Given the description of an element on the screen output the (x, y) to click on. 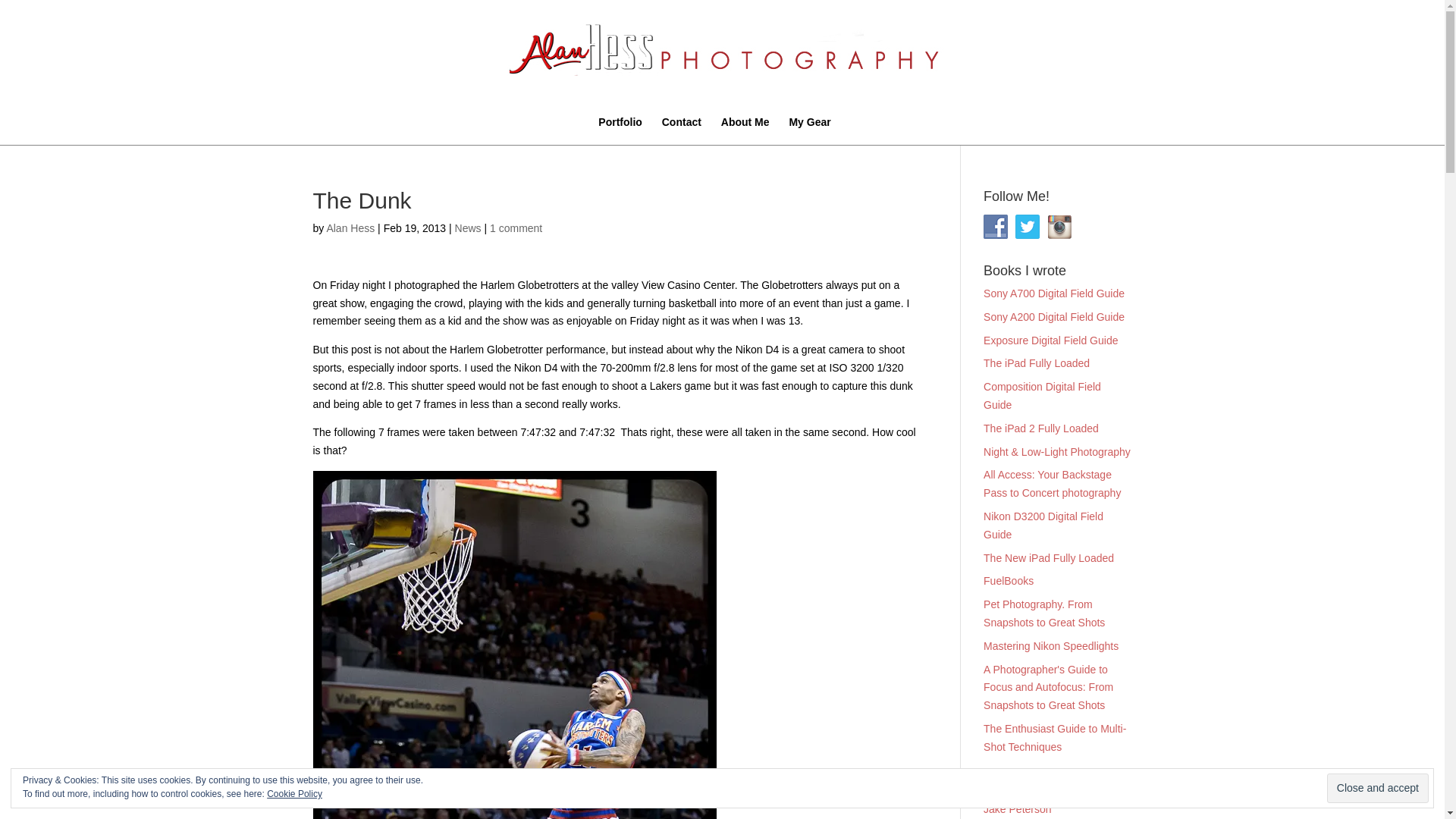
The New iPad Fully Loaded (1048, 558)
The Peachpit Press FuelBooks by Alan Hess (1008, 580)
Follow Us on Facebook (995, 226)
Composition Digital Field Guide (1042, 395)
Mastering Nikon Speedlights (1051, 645)
Nikon D3200 Digital Field Guide (1043, 525)
Alan Hess (350, 227)
News (467, 227)
Composition Digital Field Guide (1042, 395)
All Access: Your Backstage Pass to Concert photography (1052, 483)
The new iPad Fully Loaded (1048, 558)
Pet Photography. From Snapshots to Great Shots (1044, 613)
Nikon D3200 Digital Field Guide (1043, 525)
Sony A700 Digital Field Guide (1054, 293)
